Given the description of an element on the screen output the (x, y) to click on. 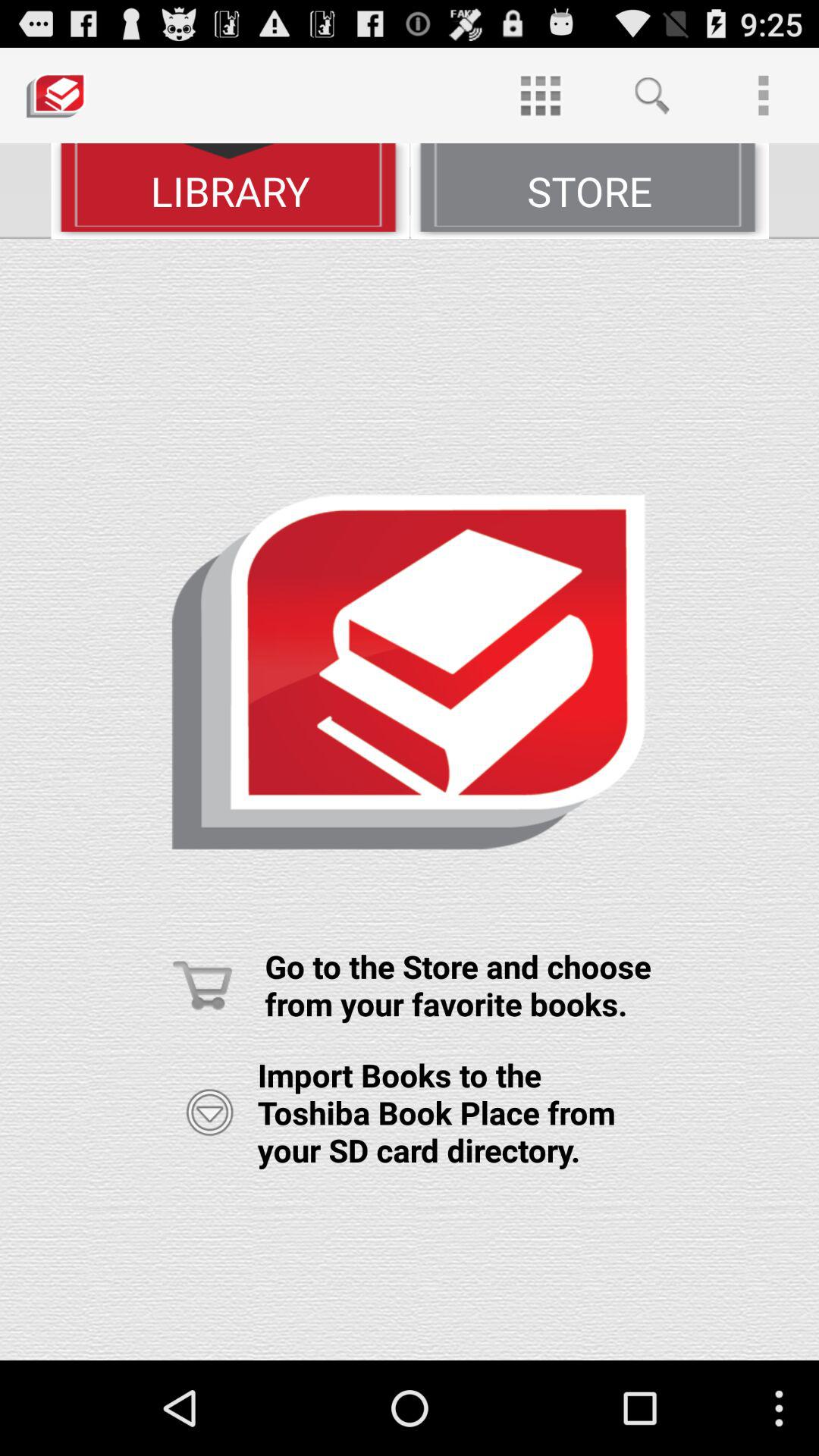
open the icon above store (540, 95)
